Given the description of an element on the screen output the (x, y) to click on. 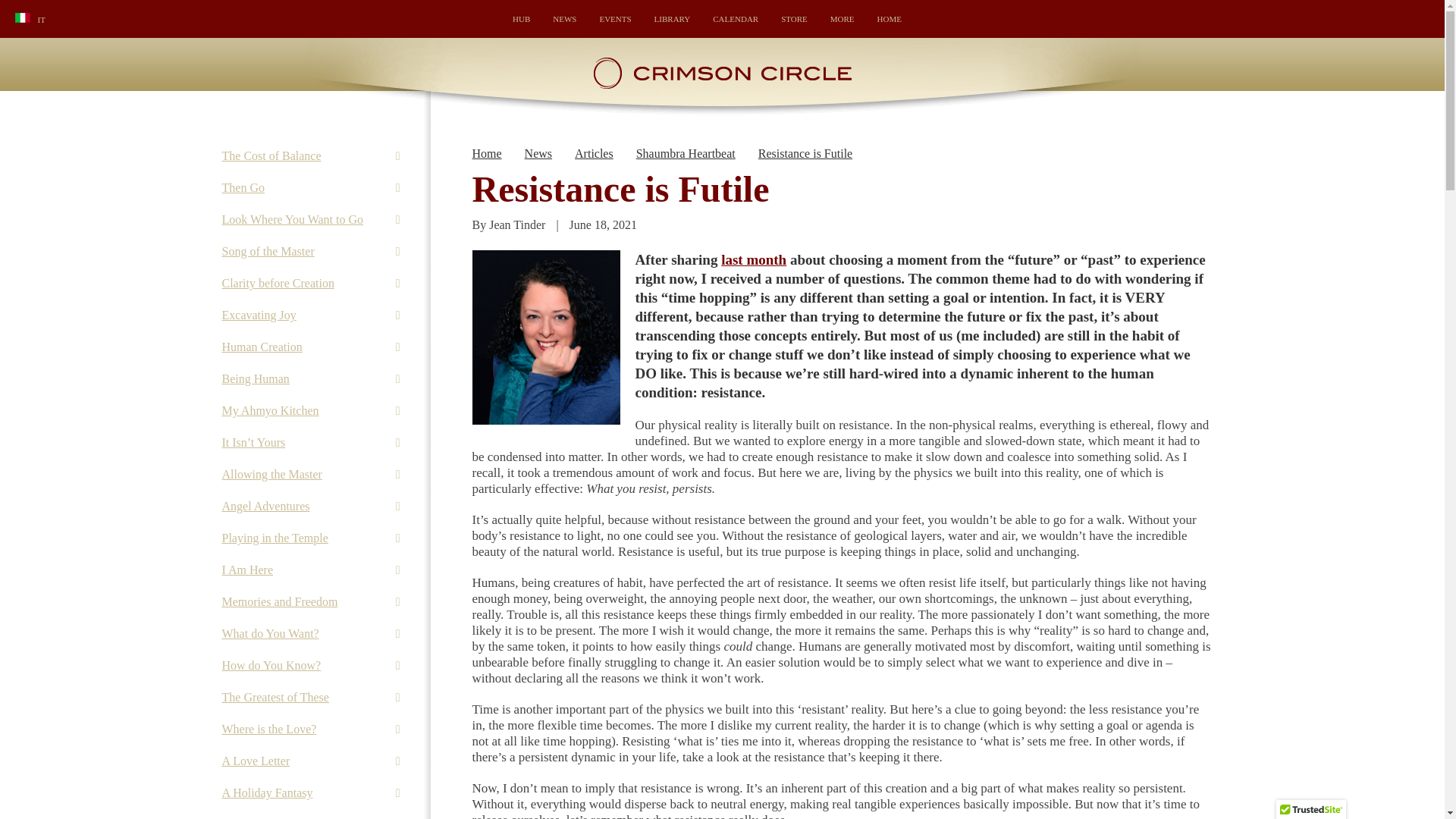
Opens a widget where you can find more information (1387, 800)
Crimson Circle (721, 86)
TrustedSite Certified (1310, 809)
